Given the description of an element on the screen output the (x, y) to click on. 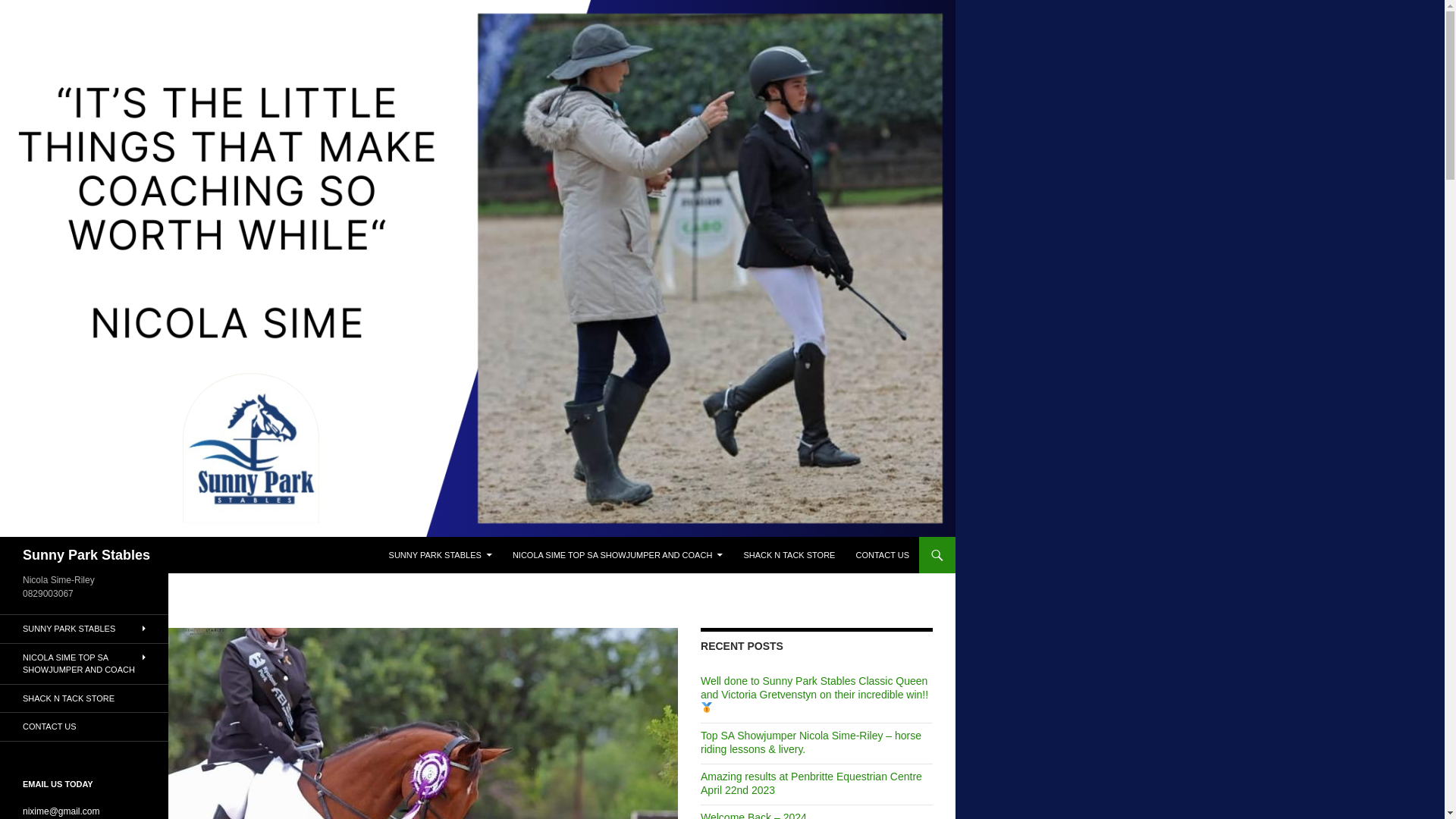
Sunny Park Stables (86, 555)
NICOLA SIME TOP SA SHOWJUMPER AND COACH (617, 555)
SHACK N TACK STORE (788, 555)
SUNNY PARK STABLES (440, 555)
CONTACT US (881, 555)
